Given the description of an element on the screen output the (x, y) to click on. 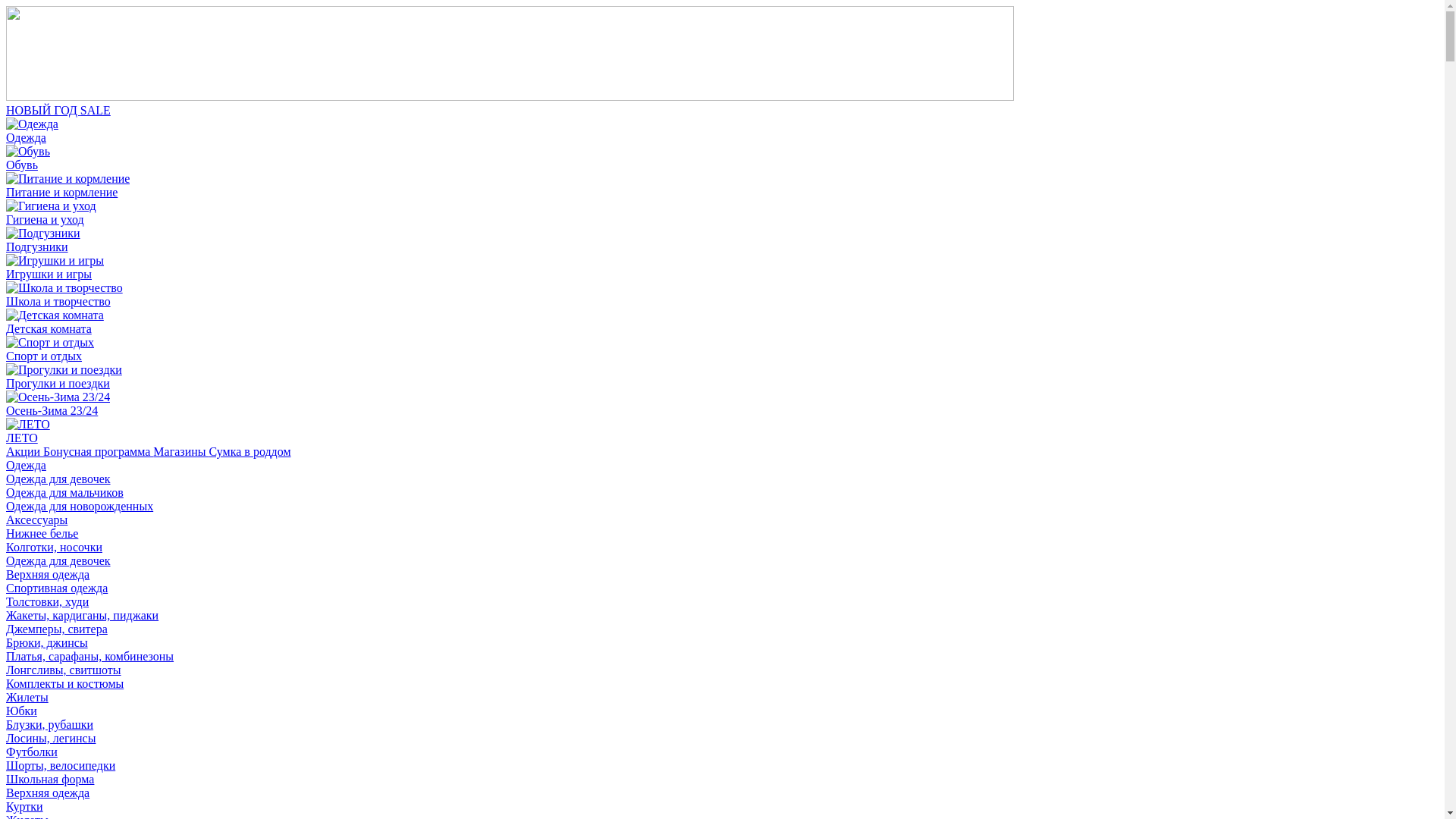
SALE Element type: text (95, 109)
